Given the description of an element on the screen output the (x, y) to click on. 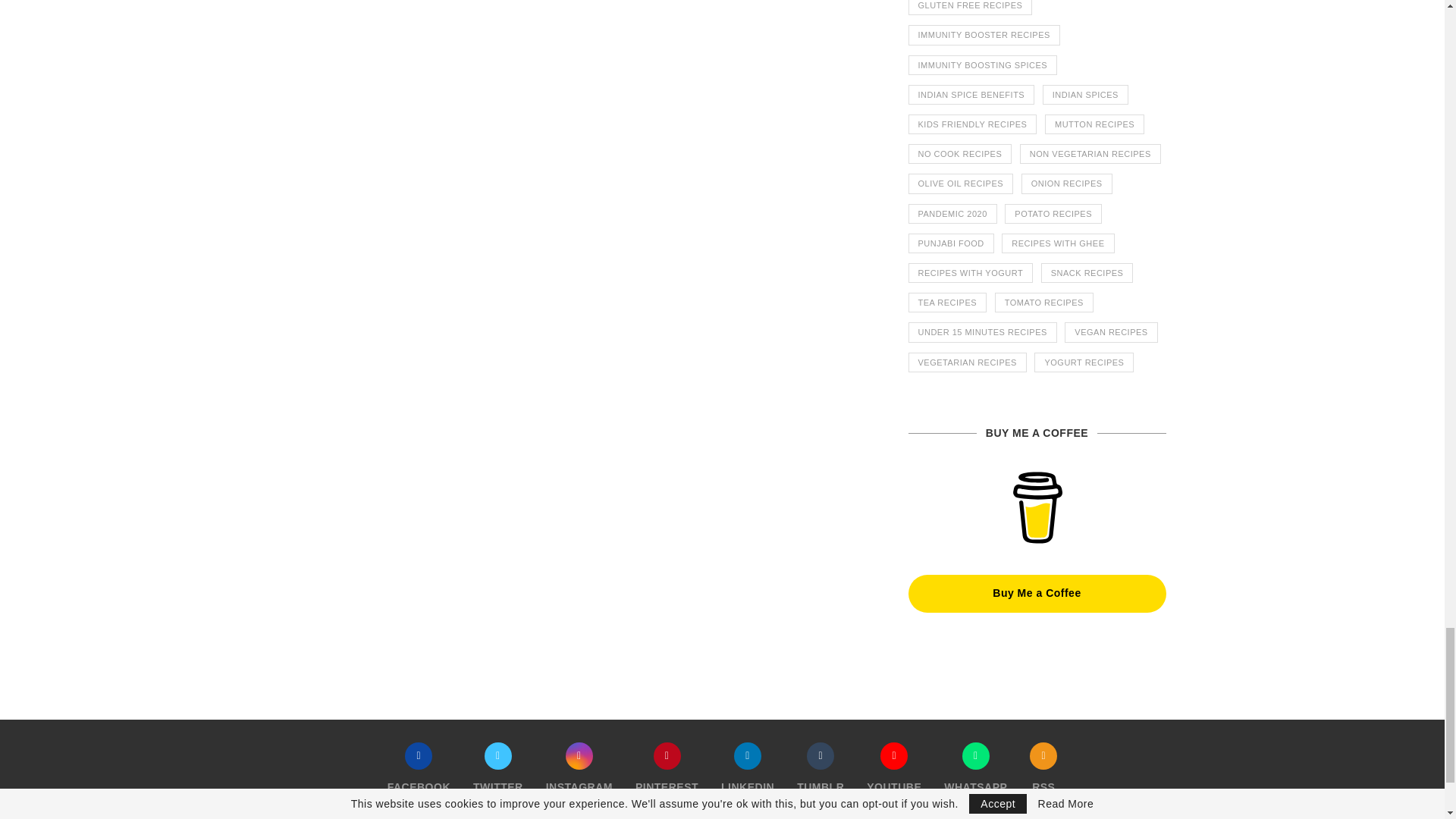
Buy Me a Coffee (1037, 507)
